Given the description of an element on the screen output the (x, y) to click on. 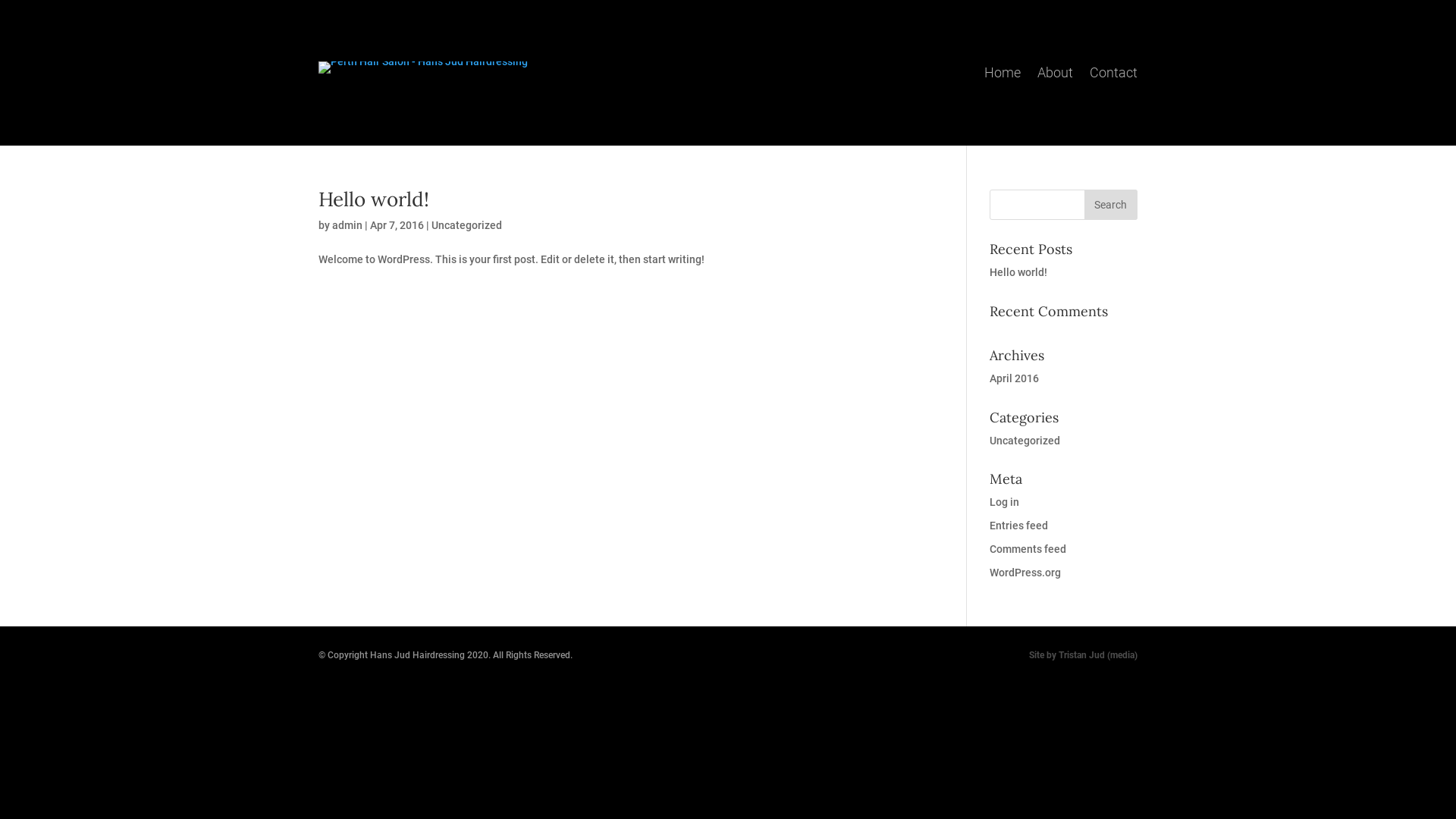
Uncategorized Element type: text (466, 225)
WordPress.org Element type: text (1024, 572)
Site by Tristan Jud (media) Element type: text (1083, 654)
Hello world! Element type: text (373, 198)
Comments feed Element type: text (1027, 548)
Log in Element type: text (1004, 501)
Contact Element type: text (1113, 69)
Hello world! Element type: text (1018, 272)
Uncategorized Element type: text (1024, 440)
About Element type: text (1055, 69)
April 2016 Element type: text (1013, 378)
Entries feed Element type: text (1018, 525)
Home Element type: text (1002, 69)
Perth Hair Salon - Hans Jud Hairdressing Element type: hover (422, 67)
Search Element type: text (1110, 204)
admin Element type: text (347, 225)
